Given the description of an element on the screen output the (x, y) to click on. 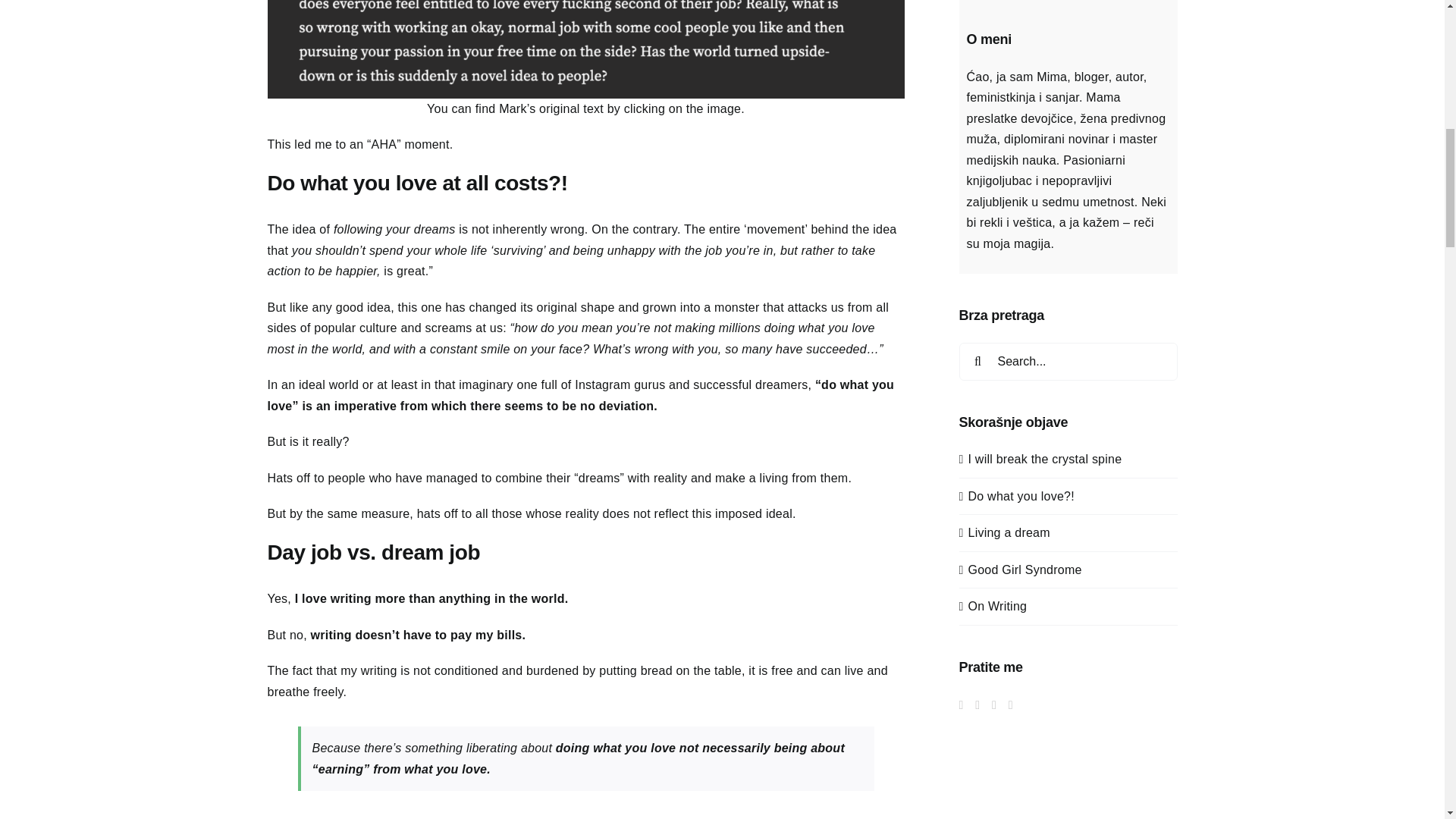
I love writing more than anything in the world. (432, 598)
